Given the description of an element on the screen output the (x, y) to click on. 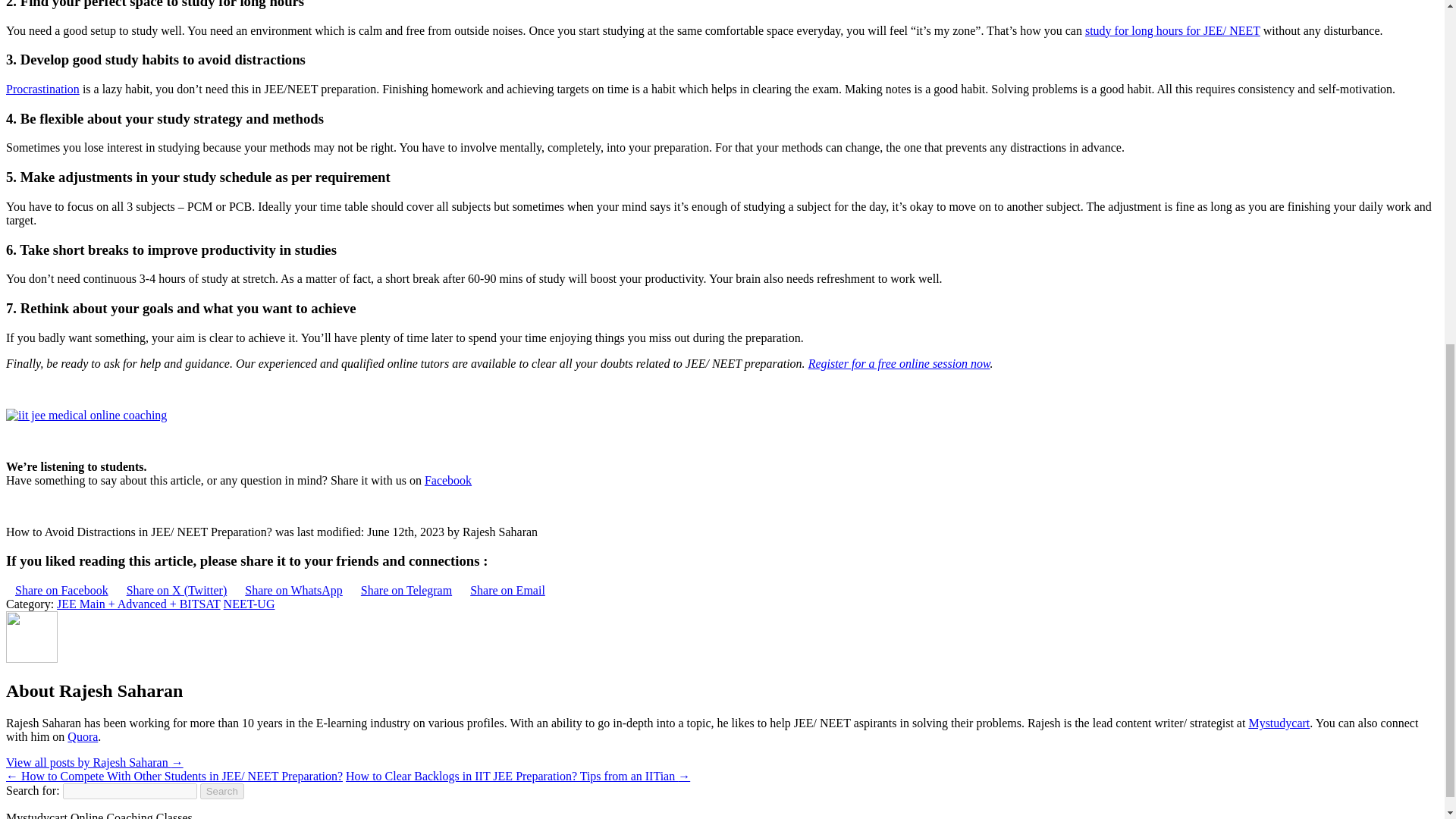
Share on Facebook (61, 590)
NEET-UG (249, 603)
Register for a free online session now (899, 363)
Procrastination (42, 88)
Share on WhatsApp (293, 590)
Mystudycart (1277, 722)
Share on Email (507, 590)
Search (222, 790)
Facebook (448, 480)
Search (222, 790)
